Given the description of an element on the screen output the (x, y) to click on. 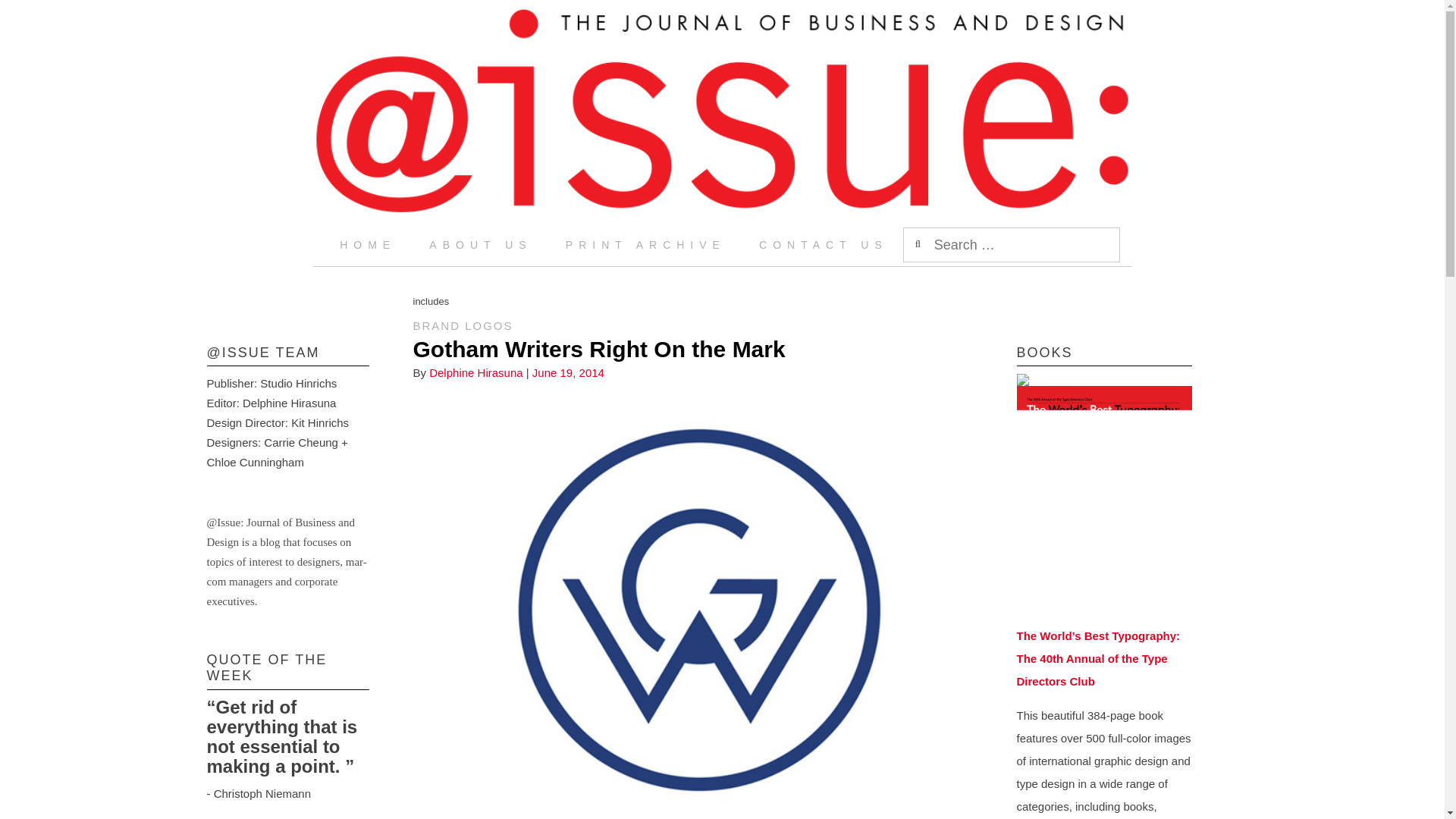
PRINT ARCHIVE (645, 244)
HOME (367, 244)
ABOUT US (480, 244)
Search (28, 15)
CONTACT US (823, 244)
